Given the description of an element on the screen output the (x, y) to click on. 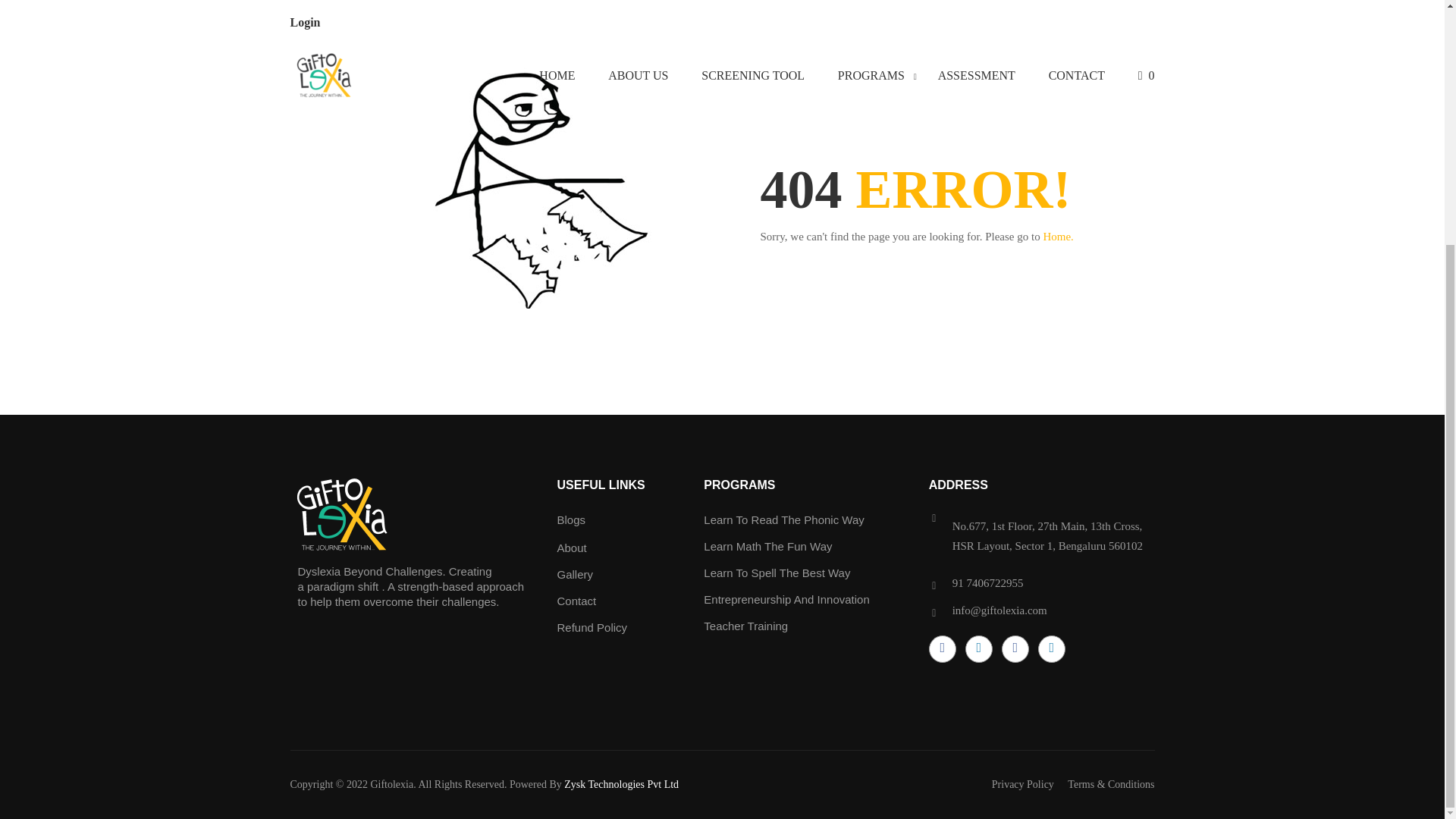
Learn Math The Fun Way (767, 545)
Entrepreneurship And Innovation (786, 599)
Learn To Spell The Best Way (776, 572)
Contact (575, 600)
Blogs (570, 519)
Learn To Read The Phonic Way (783, 519)
Refund Policy (591, 626)
91 7406722955 (987, 582)
Gallery (574, 574)
About (571, 547)
Home. (1057, 236)
Teacher Training (745, 625)
